Given the description of an element on the screen output the (x, y) to click on. 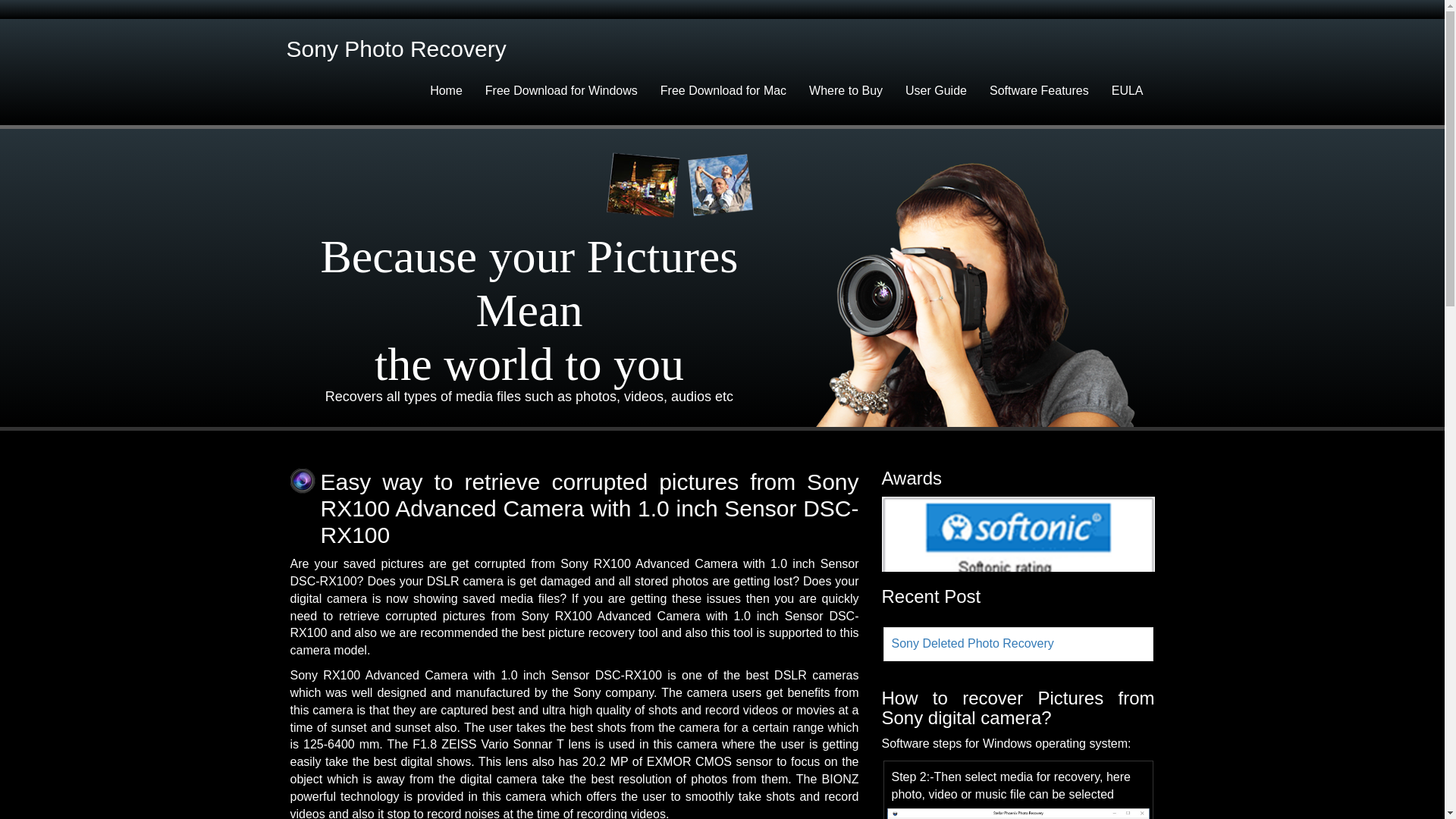
Sony Photo Recovery (396, 53)
EULA (1127, 90)
Software Features (1039, 90)
Where to Buy (845, 90)
Home (446, 90)
Free Download for Windows (561, 90)
Sony Photo Recovery (396, 53)
Free Download for Mac (723, 90)
Sony Photo Recovery (401, 53)
Sony Deleted Photo Recovery (972, 643)
